Given the description of an element on the screen output the (x, y) to click on. 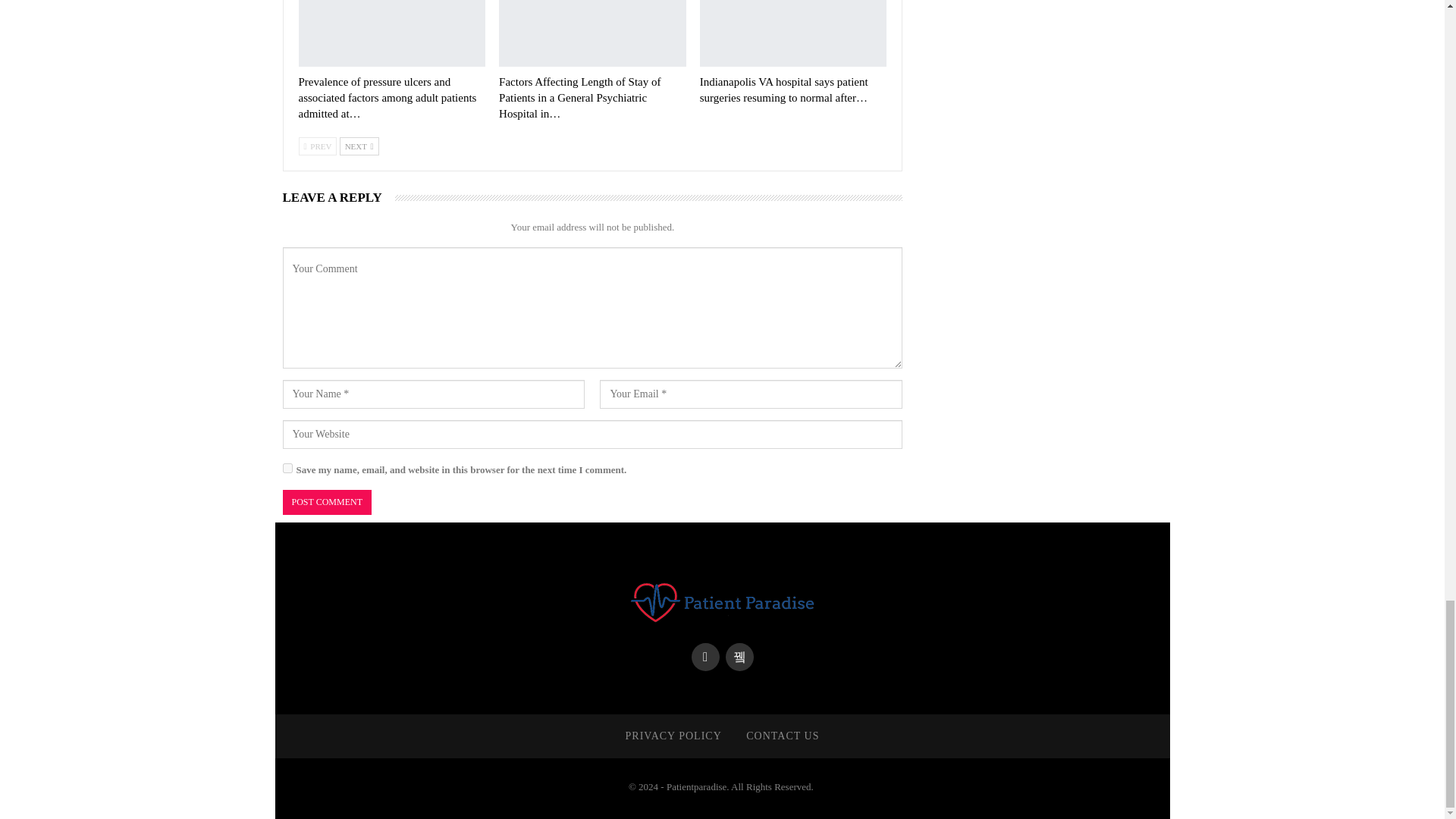
Post Comment (326, 502)
yes (287, 468)
